Given the description of an element on the screen output the (x, y) to click on. 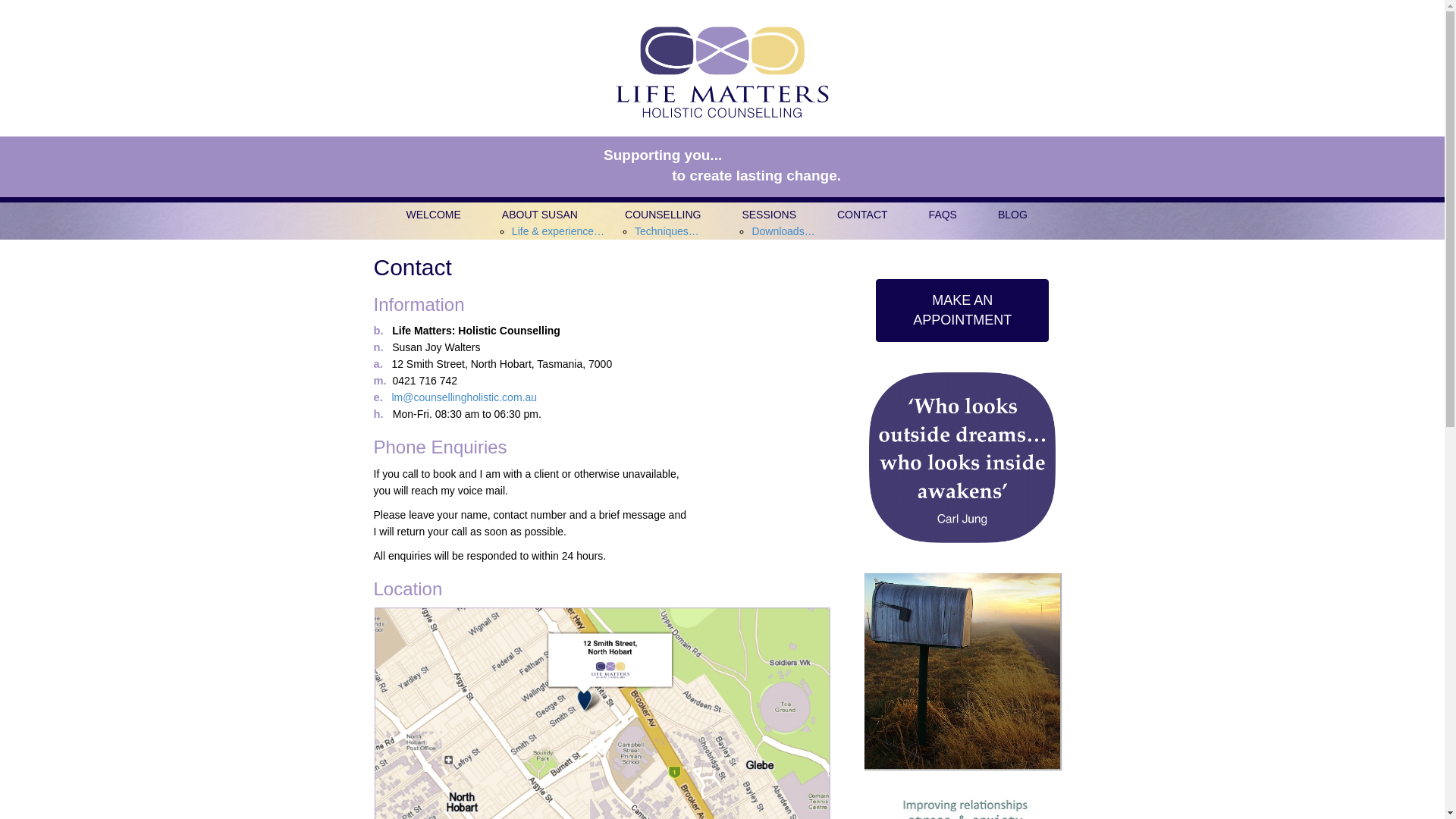
CONTACT Element type: text (862, 214)
BLOG Element type: text (1012, 214)
WELCOME Element type: text (432, 214)
MAKE AN APPOINTMENT Element type: text (961, 310)
ABOUT SUSAN Element type: text (542, 214)
SESSIONS Element type: text (768, 214)
lm@counsellingholistic.com.au Element type: text (463, 397)
FAQS Element type: text (942, 214)
COUNSELLING Element type: text (662, 214)
